Given the description of an element on the screen output the (x, y) to click on. 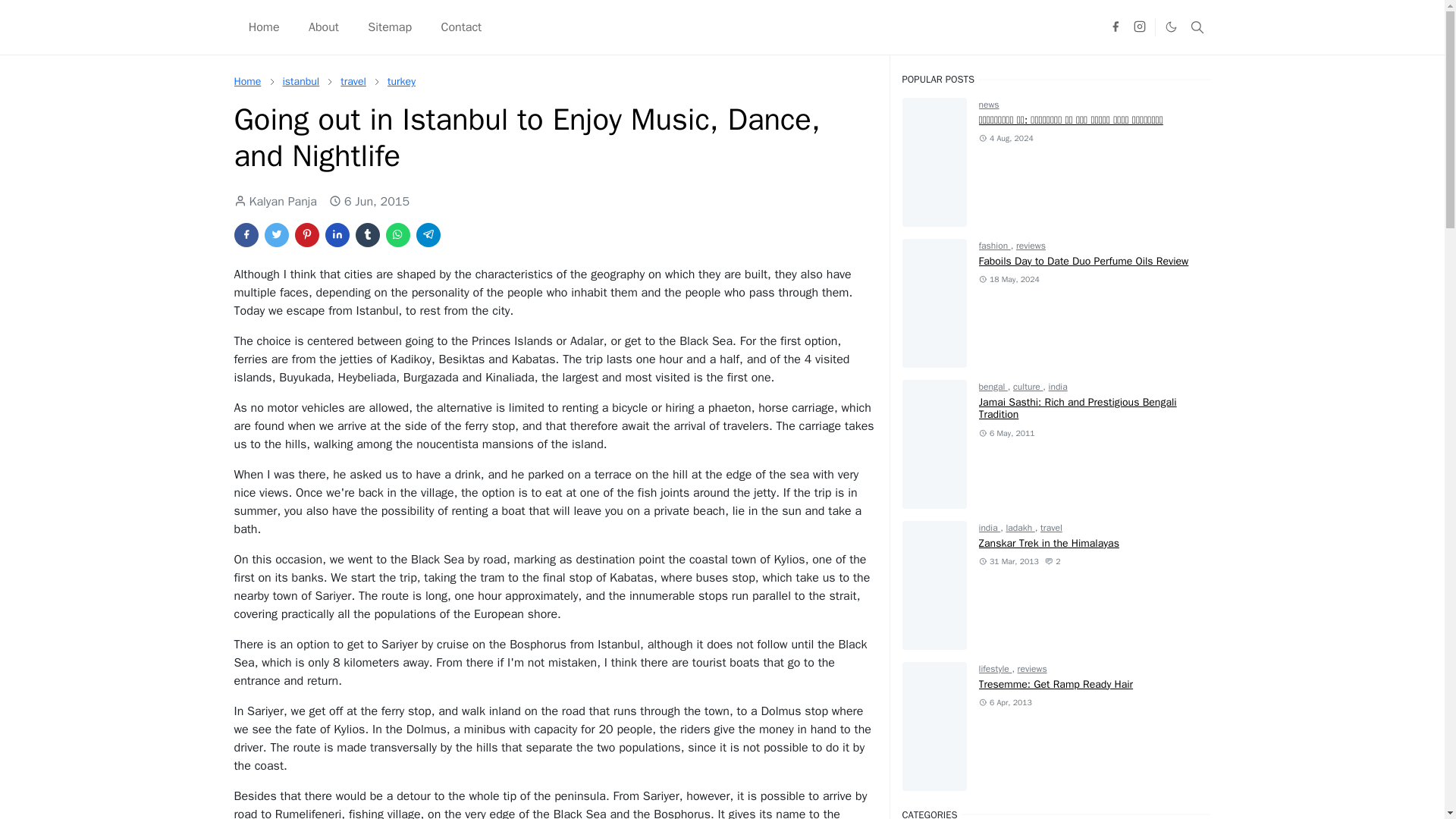
reviews (1030, 245)
Facebook Share (244, 234)
Tumblr Share (366, 234)
Linkedin Share (336, 234)
istanbul (300, 81)
Faboils Day to Date Duo Perfume Oils Review (1083, 260)
Share to telegram (426, 234)
Jamai Sasthi: Rich and Prestigious Bengali Tradition (1077, 408)
fashion (994, 245)
travel (353, 81)
